Given the description of an element on the screen output the (x, y) to click on. 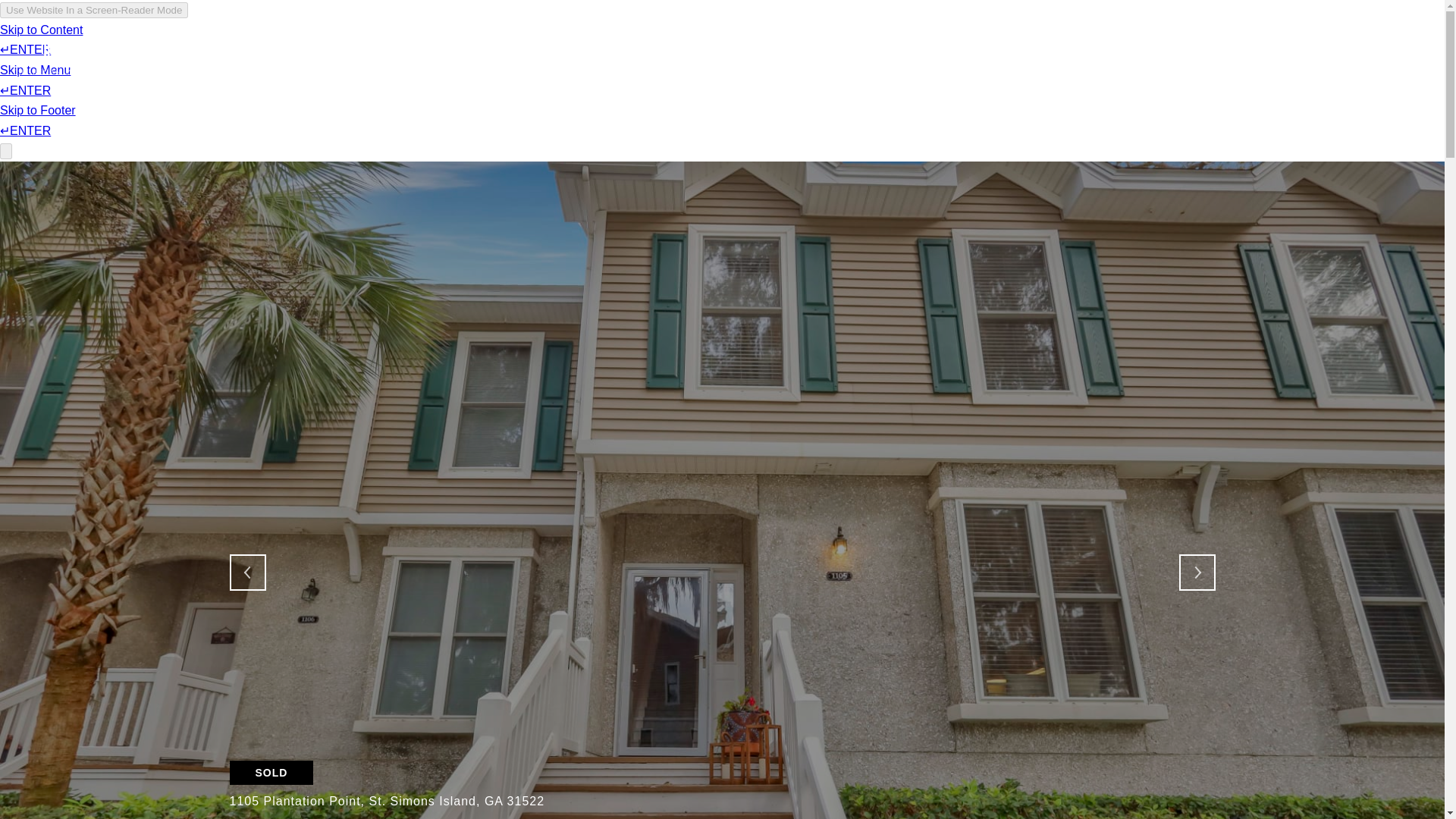
MEDIA (1239, 55)
TESTIMONIALS (949, 55)
NEIGHBORHOOD SEARCH (810, 55)
LET'S CONNECT (1324, 55)
MEET THE TEAM (1058, 55)
PROPERTIES (1163, 55)
